Given the description of an element on the screen output the (x, y) to click on. 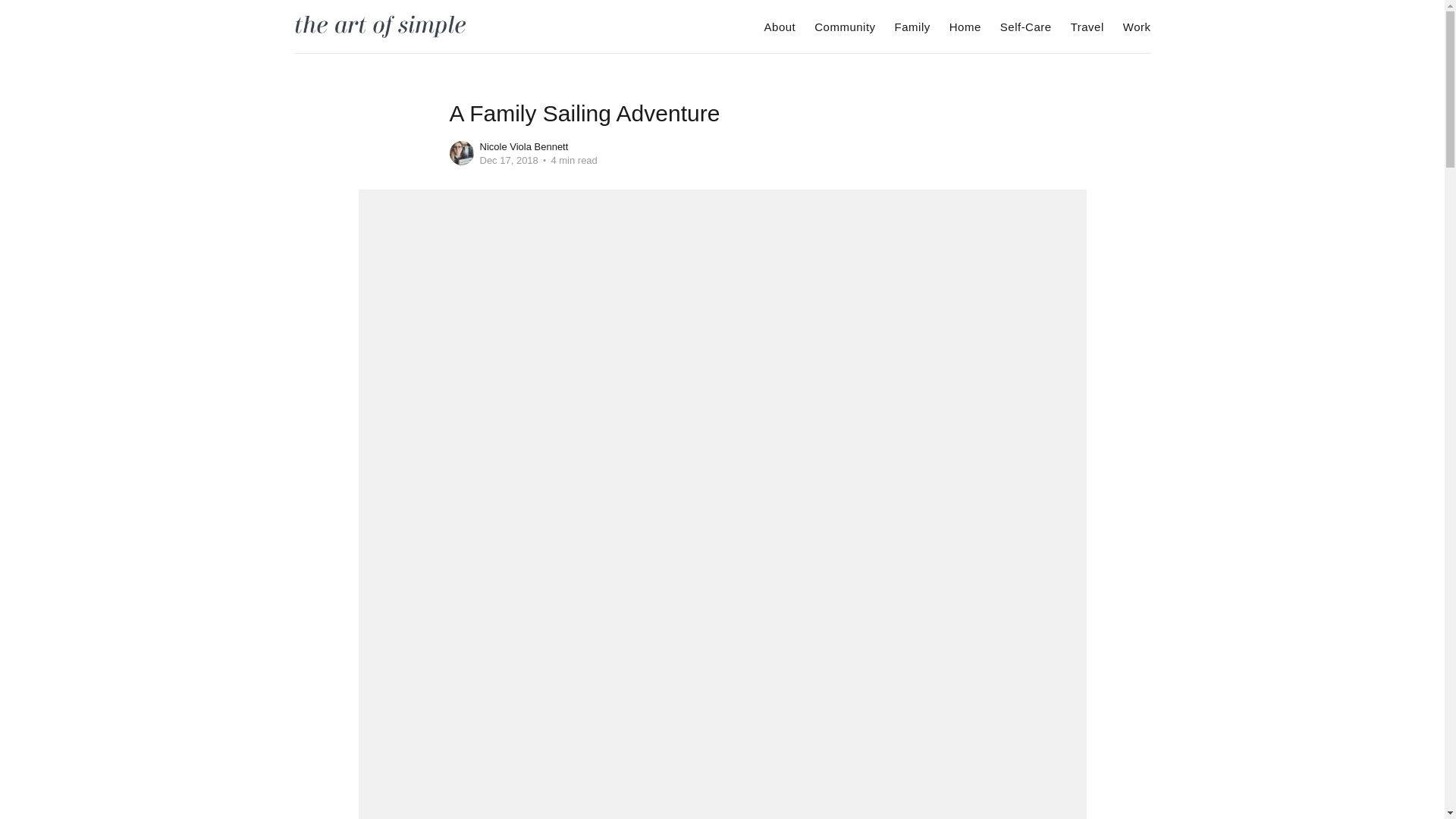
Work (1136, 26)
Family (912, 26)
Community (844, 26)
Self-Care (1025, 26)
About (780, 26)
Nicole Viola Bennett (523, 146)
Travel (1086, 26)
Home (965, 26)
